Given the description of an element on the screen output the (x, y) to click on. 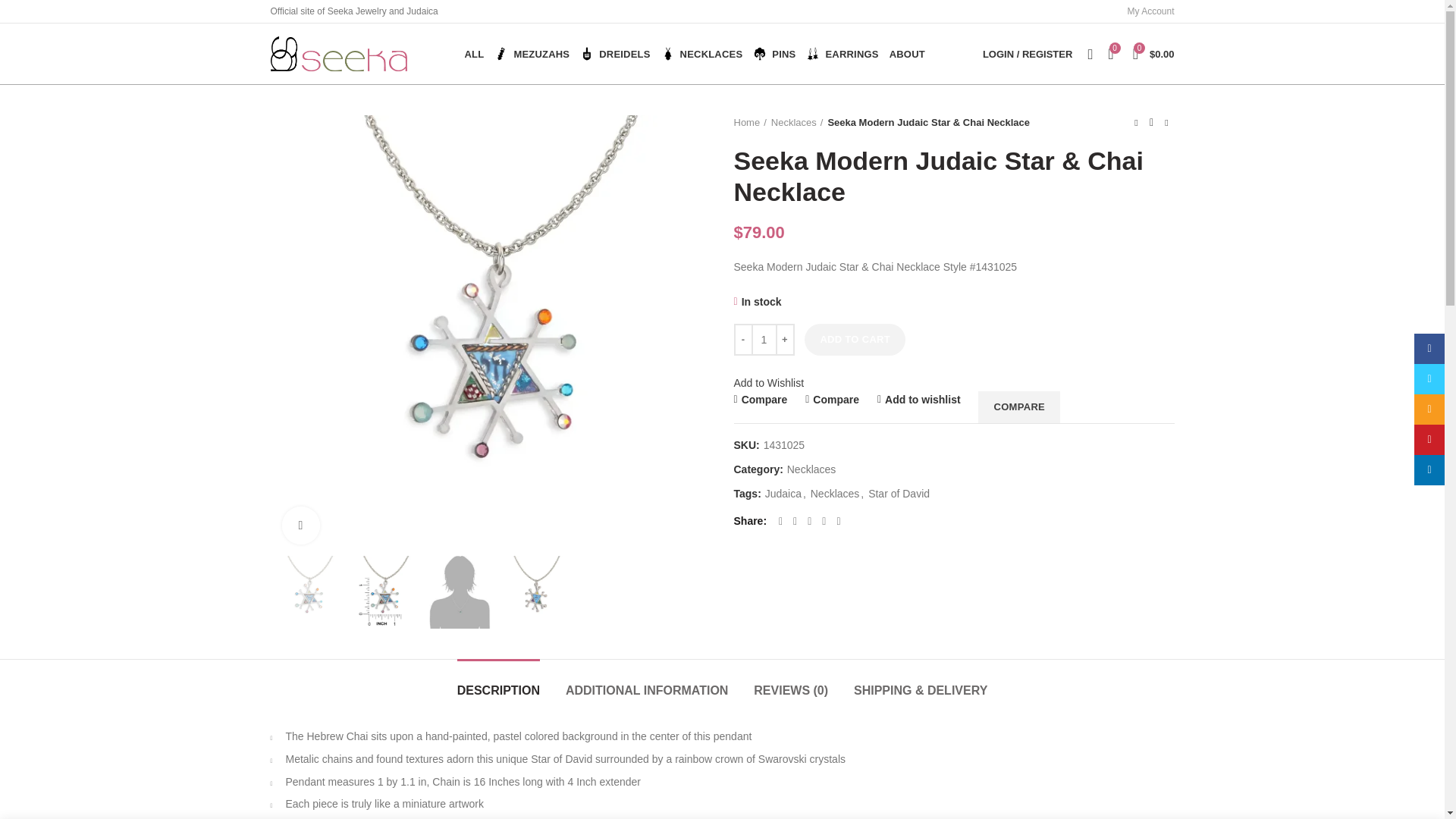
PINS (774, 53)
ADD TO CART (855, 339)
DREIDELS (615, 53)
1431025-S.jpg (459, 592)
EARRINGS (841, 53)
My account (1027, 53)
Previous product (1135, 122)
Next product (1165, 122)
MEZUZAHS (532, 53)
Home (750, 122)
My Account (1149, 10)
ALL (474, 53)
Add to Wishlist (769, 382)
1431025-R (383, 592)
NECKLACES (702, 53)
